Given the description of an element on the screen output the (x, y) to click on. 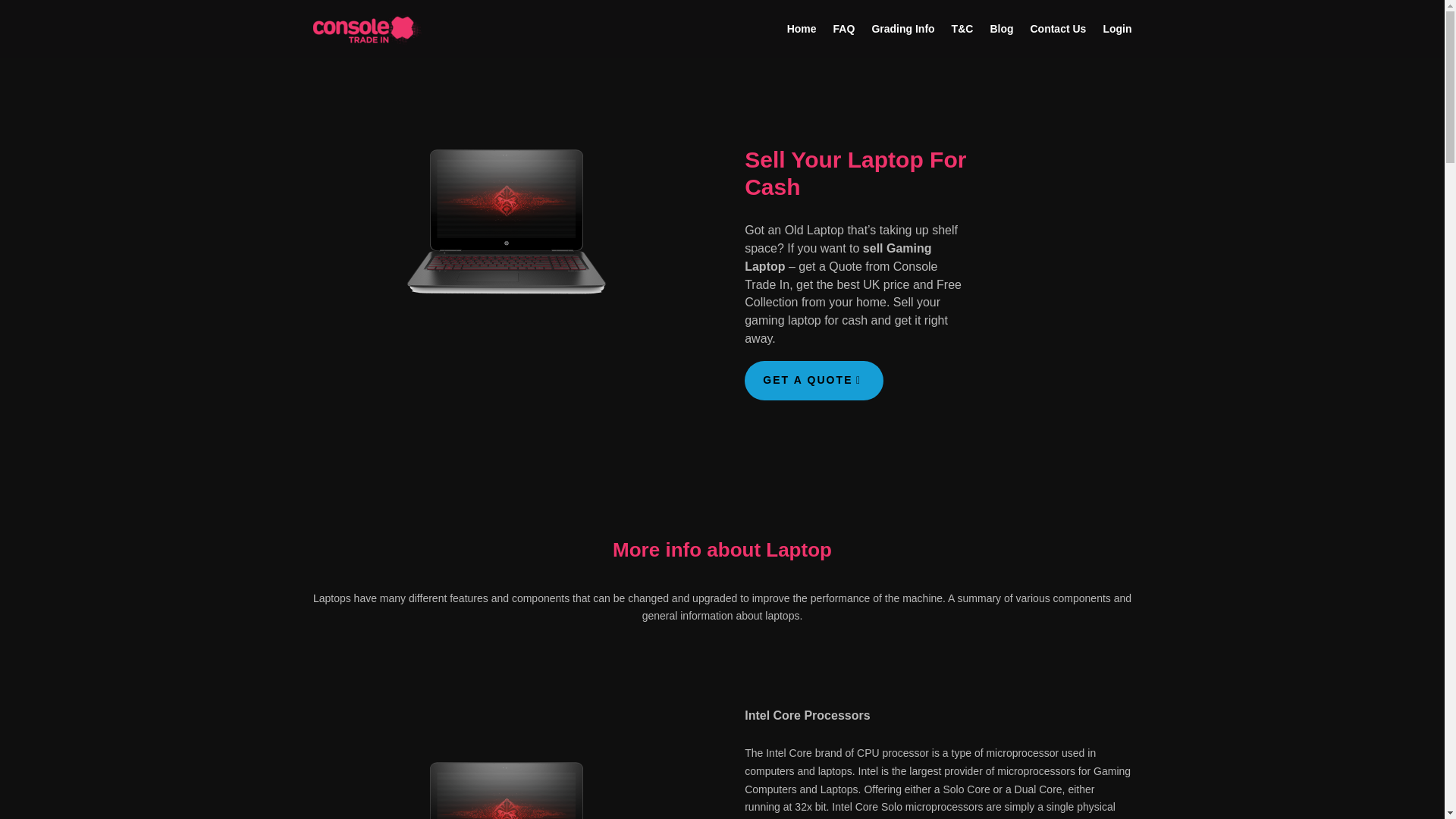
Contact Us (1057, 28)
GET A QUOTE (813, 380)
sell-gaming-laptop (506, 779)
sell-gaming-laptop (506, 224)
Grading Info (902, 28)
